Given the description of an element on the screen output the (x, y) to click on. 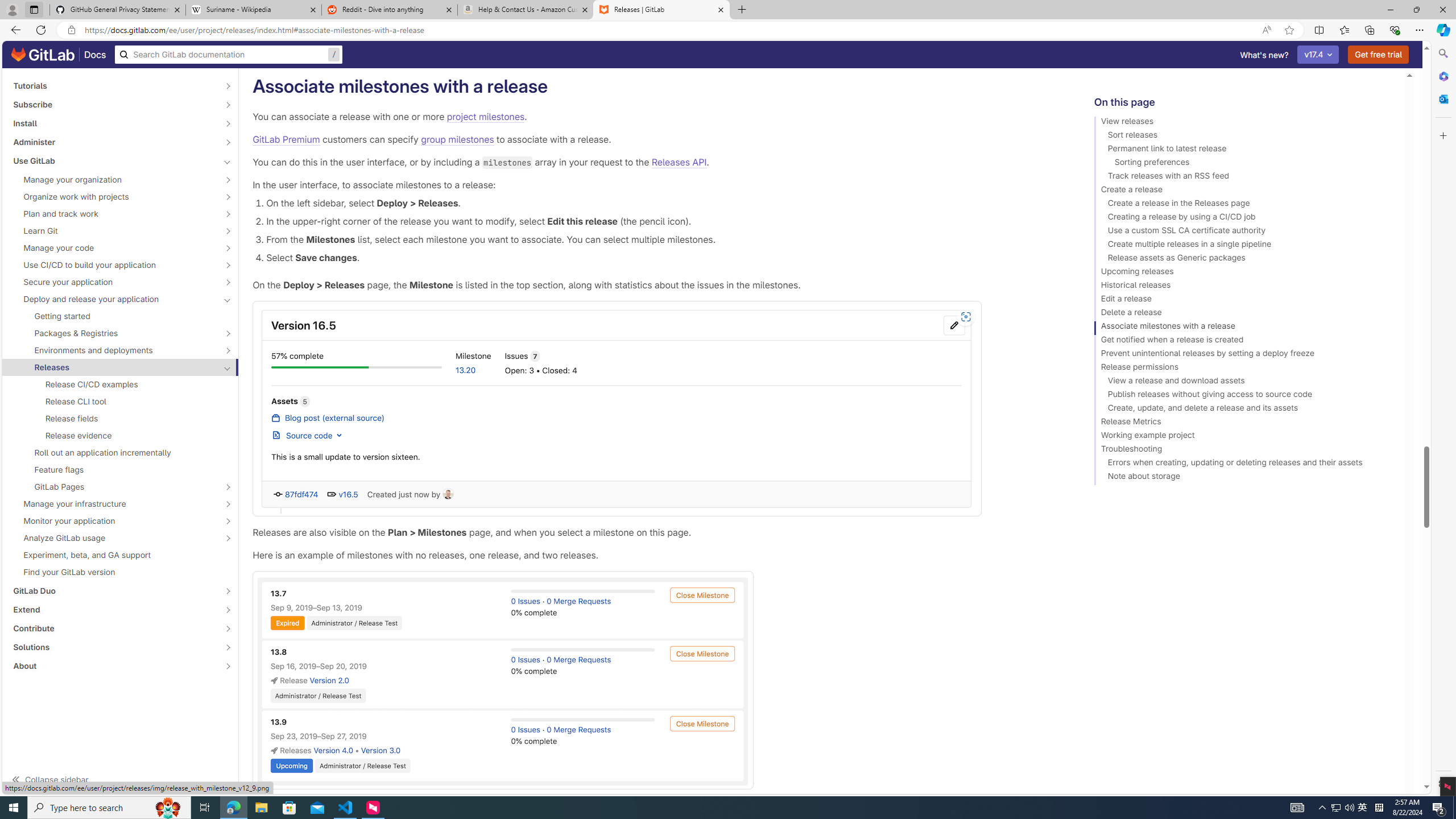
A Release with one associated milestone (616, 408)
View releases (1244, 123)
Select Save changes. (662, 257)
Manage your infrastructure (113, 503)
GitLab Duo (113, 590)
group milestones (456, 138)
Solutions (113, 647)
A Release with one associated milestone (654, 408)
Release permissions (1244, 368)
